Given the description of an element on the screen output the (x, y) to click on. 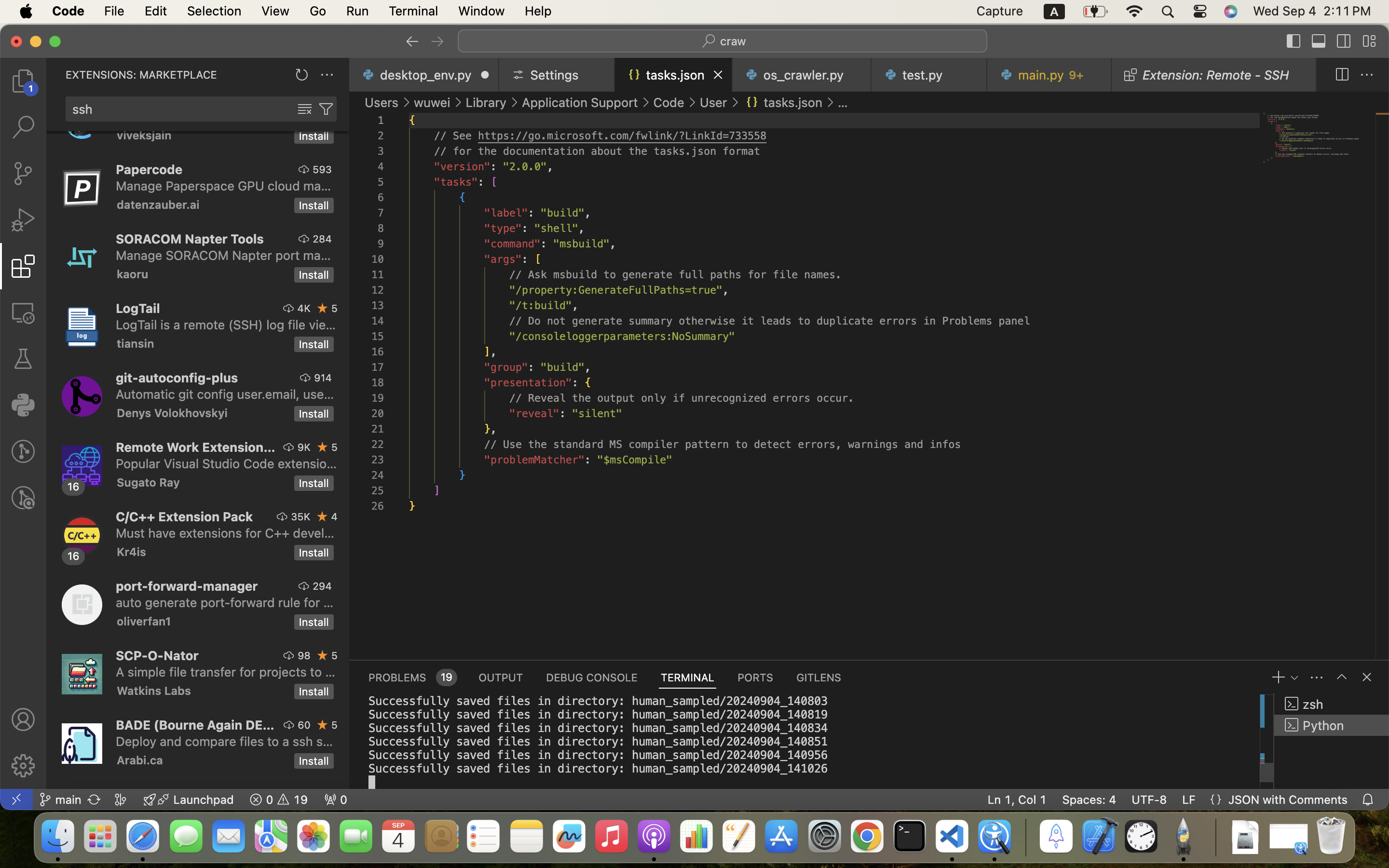
Papercode Element type: AXStaticText (149, 169)
kaoru Element type: AXStaticText (132, 273)
 Element type: AXStaticText (325, 108)
593 Element type: AXStaticText (321, 168)
 Element type: AXStaticText (1366, 74)
